Given the description of an element on the screen output the (x, y) to click on. 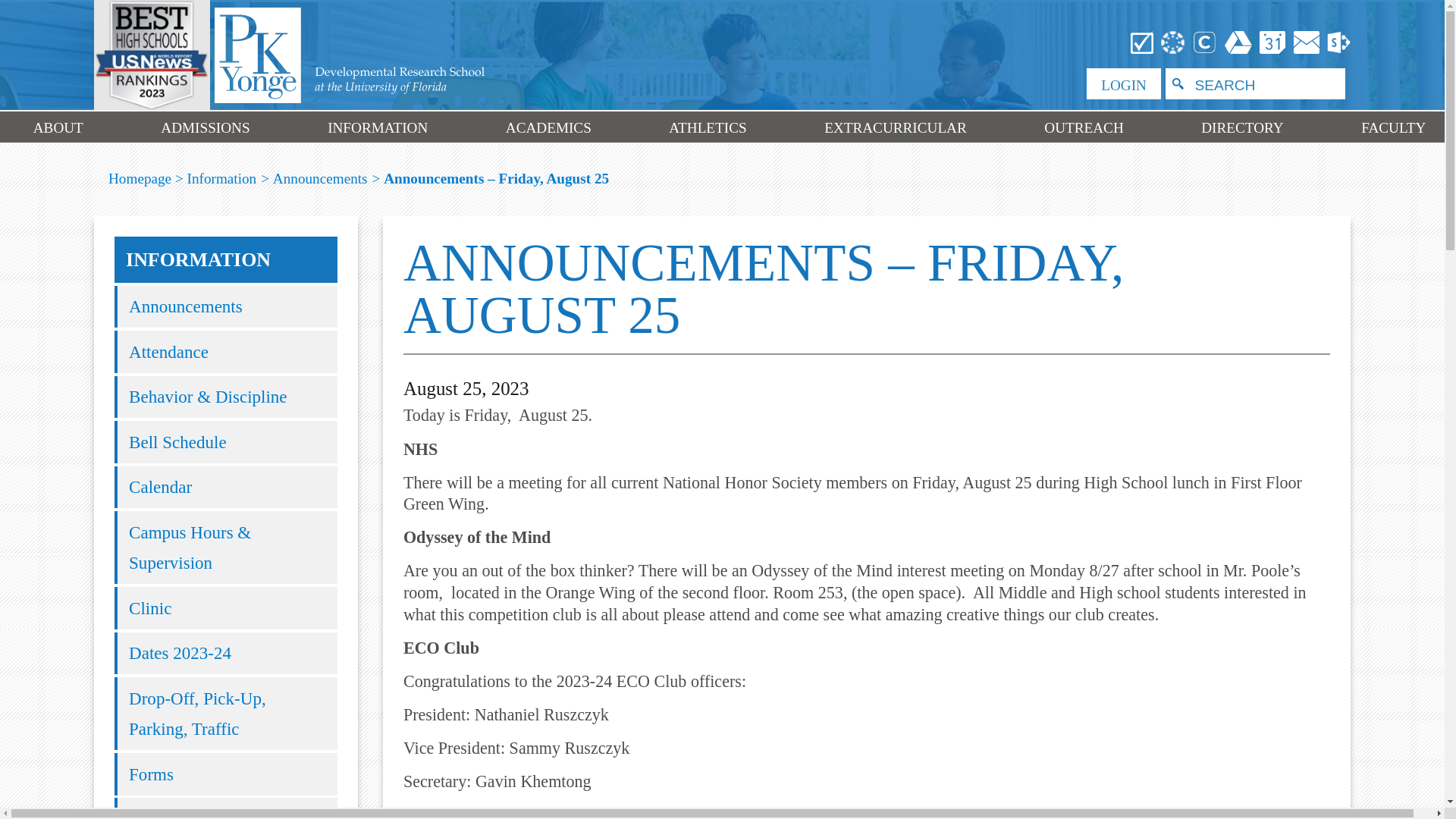
Sharepoint (1337, 40)
Calendar (1273, 40)
Clever (1205, 40)
LOGIN (1123, 83)
Google Drive (1238, 40)
Skyward (1141, 40)
Canvas (1173, 40)
Outlook Web App (1306, 40)
